Given the description of an element on the screen output the (x, y) to click on. 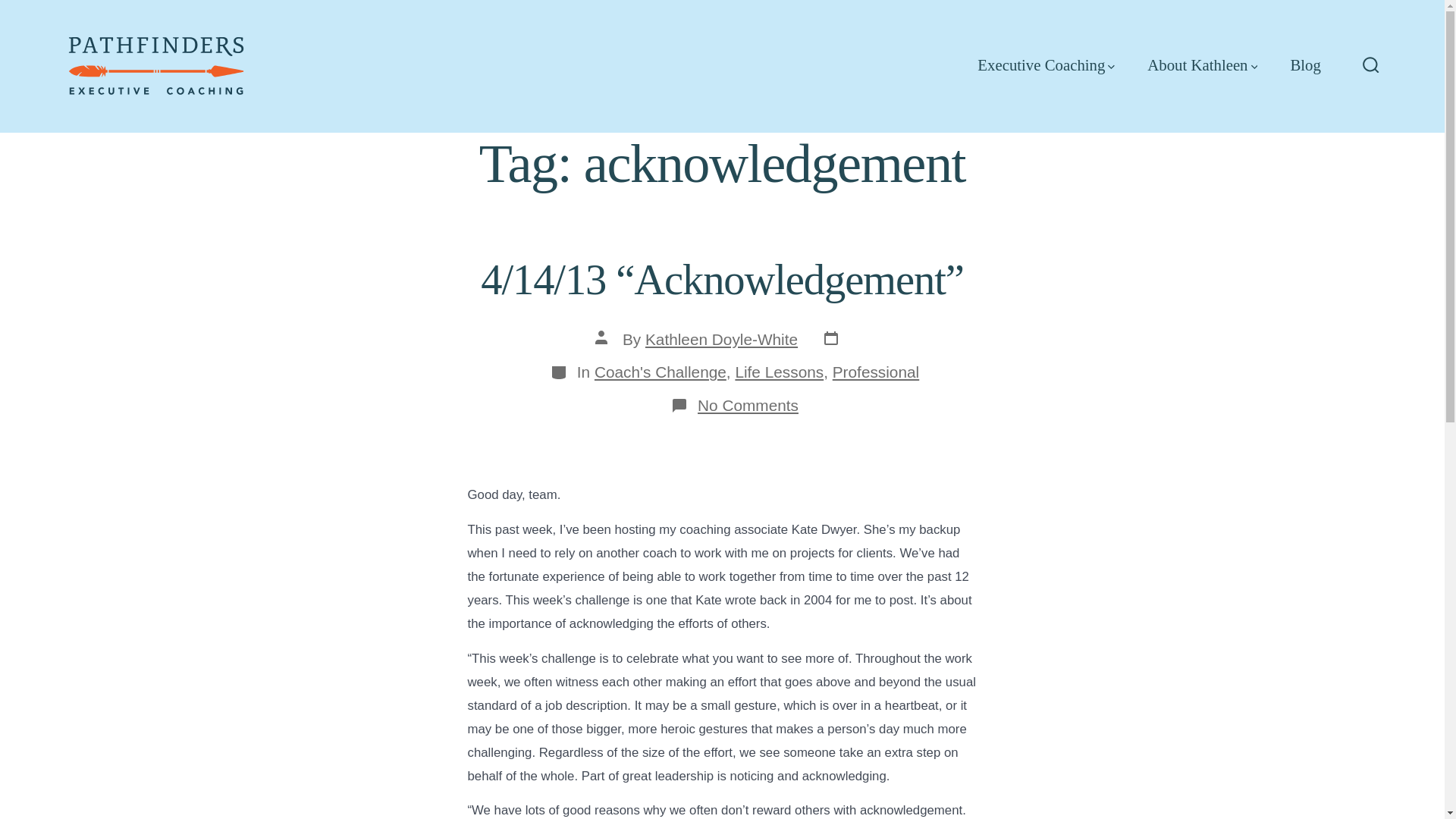
Executive Coaching (1045, 65)
Blog (1305, 65)
Coach's Challenge (660, 371)
Kathleen Doyle-White (721, 339)
Life Lessons (779, 371)
About Kathleen (1202, 65)
Post date (835, 339)
Professional (875, 371)
Search Toggle (1371, 66)
